Given the description of an element on the screen output the (x, y) to click on. 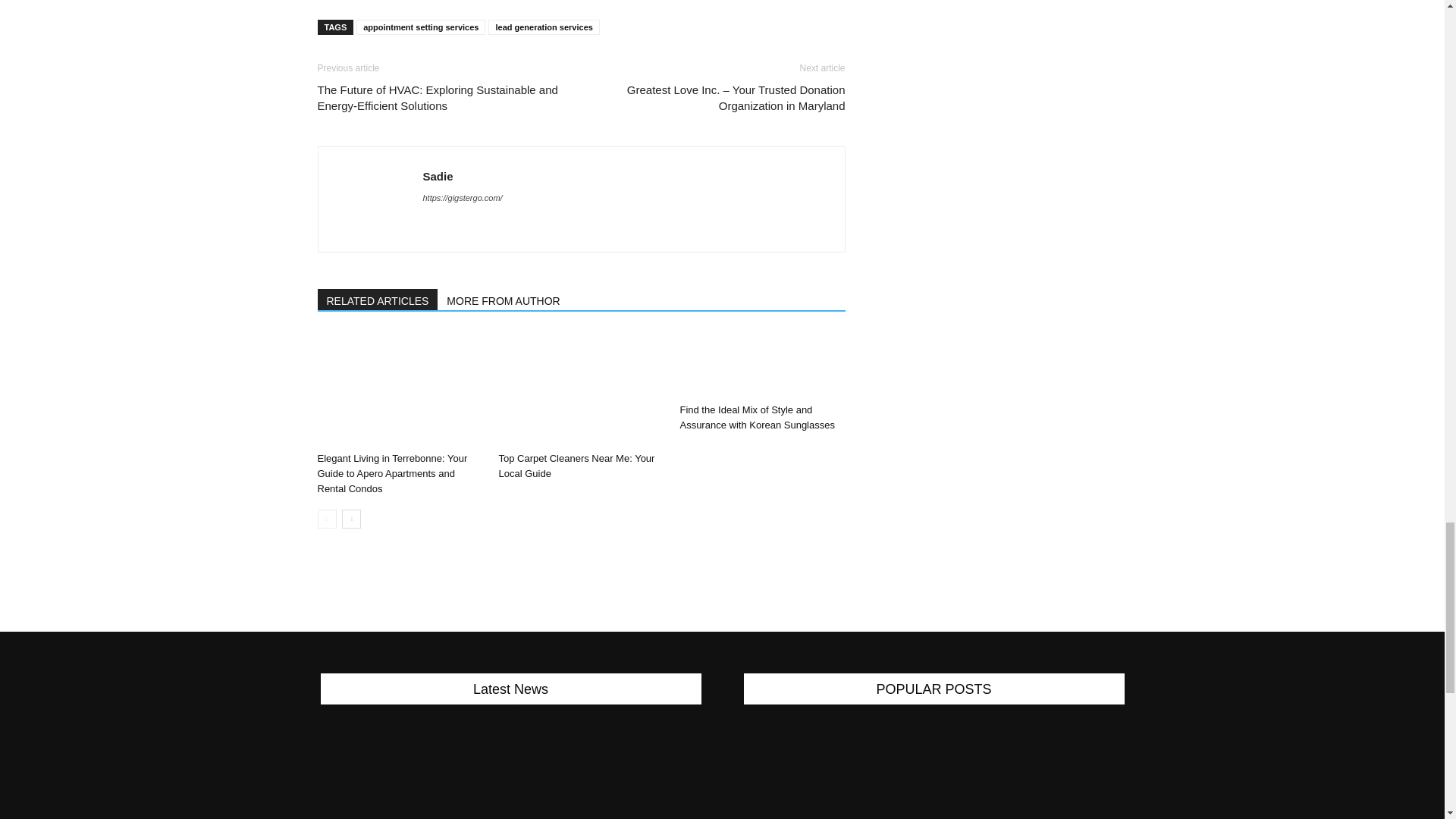
Top Carpet Cleaners Near Me: Your Local Guide (575, 465)
lead generation services (542, 27)
Top Carpet Cleaners Near Me: Your Local Guide (580, 388)
appointment setting services (420, 27)
Sadie (437, 175)
